Given the description of an element on the screen output the (x, y) to click on. 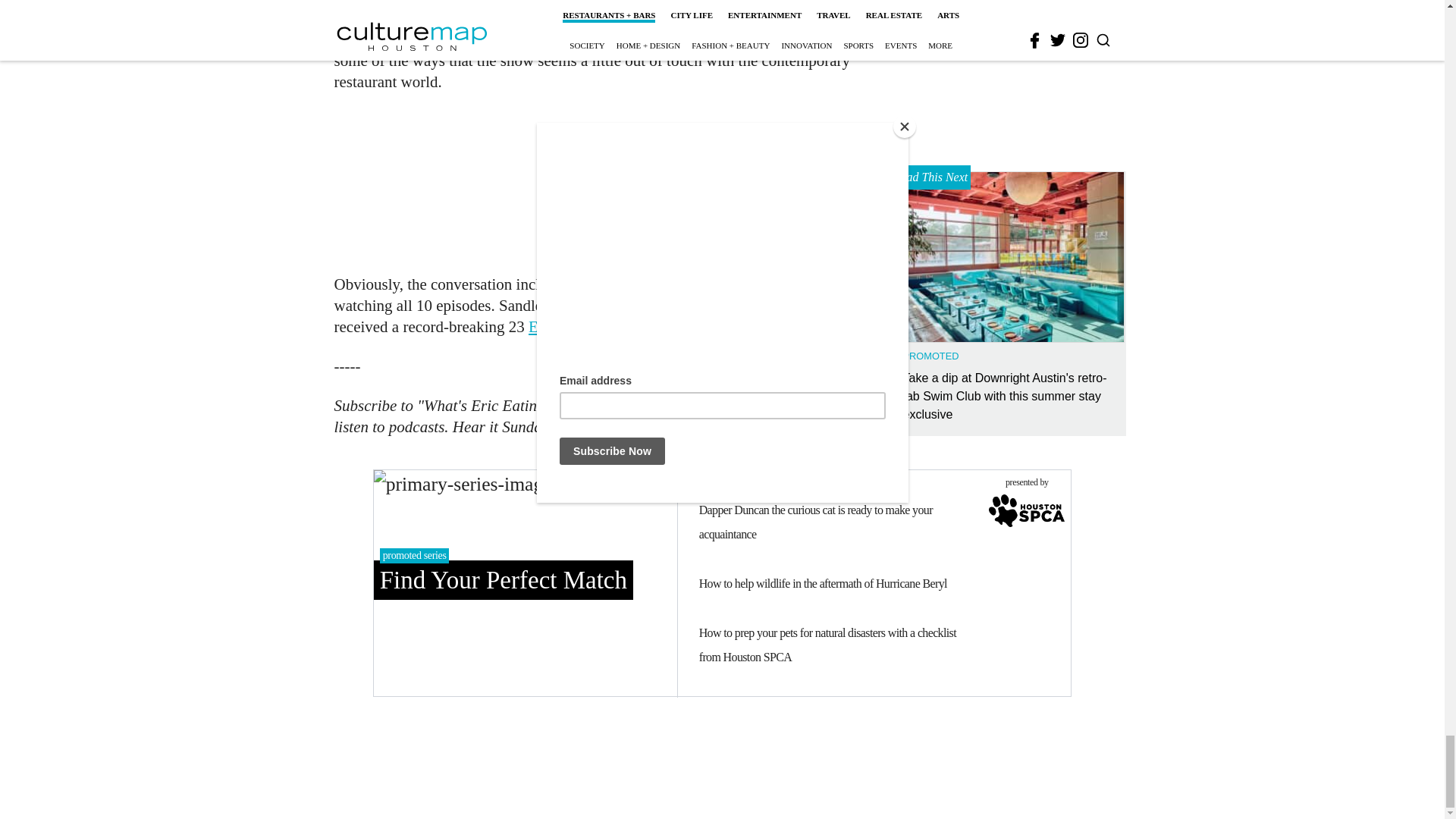
Audioboom player (599, 180)
primary-link (525, 583)
